Given the description of an element on the screen output the (x, y) to click on. 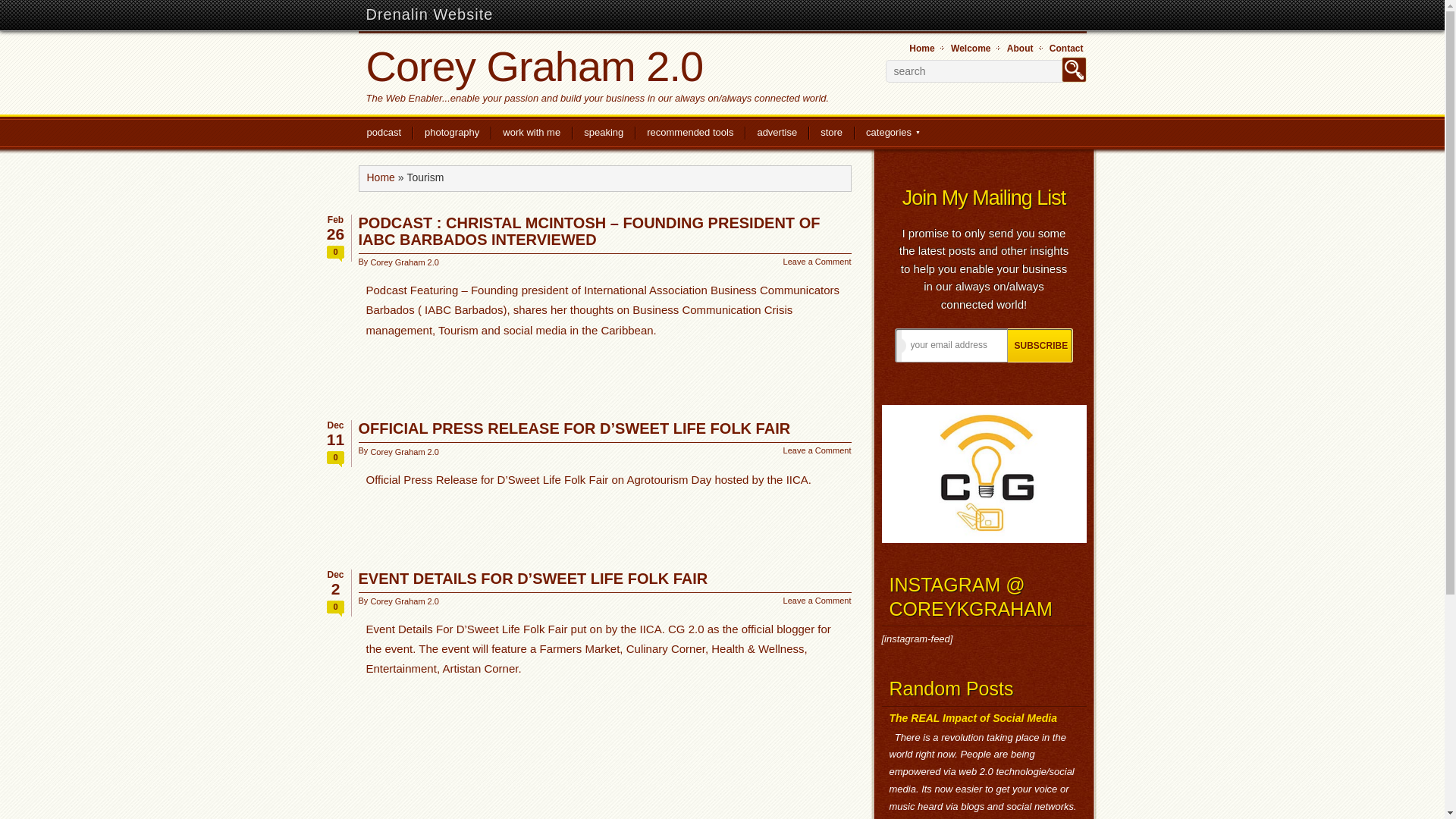
Leave a Comment (817, 261)
Search (1073, 69)
Leave a Comment (817, 450)
advertise (776, 134)
work with me (531, 134)
photography (452, 134)
Home (380, 177)
your email address (951, 345)
0 (334, 253)
0 (334, 608)
